Given the description of an element on the screen output the (x, y) to click on. 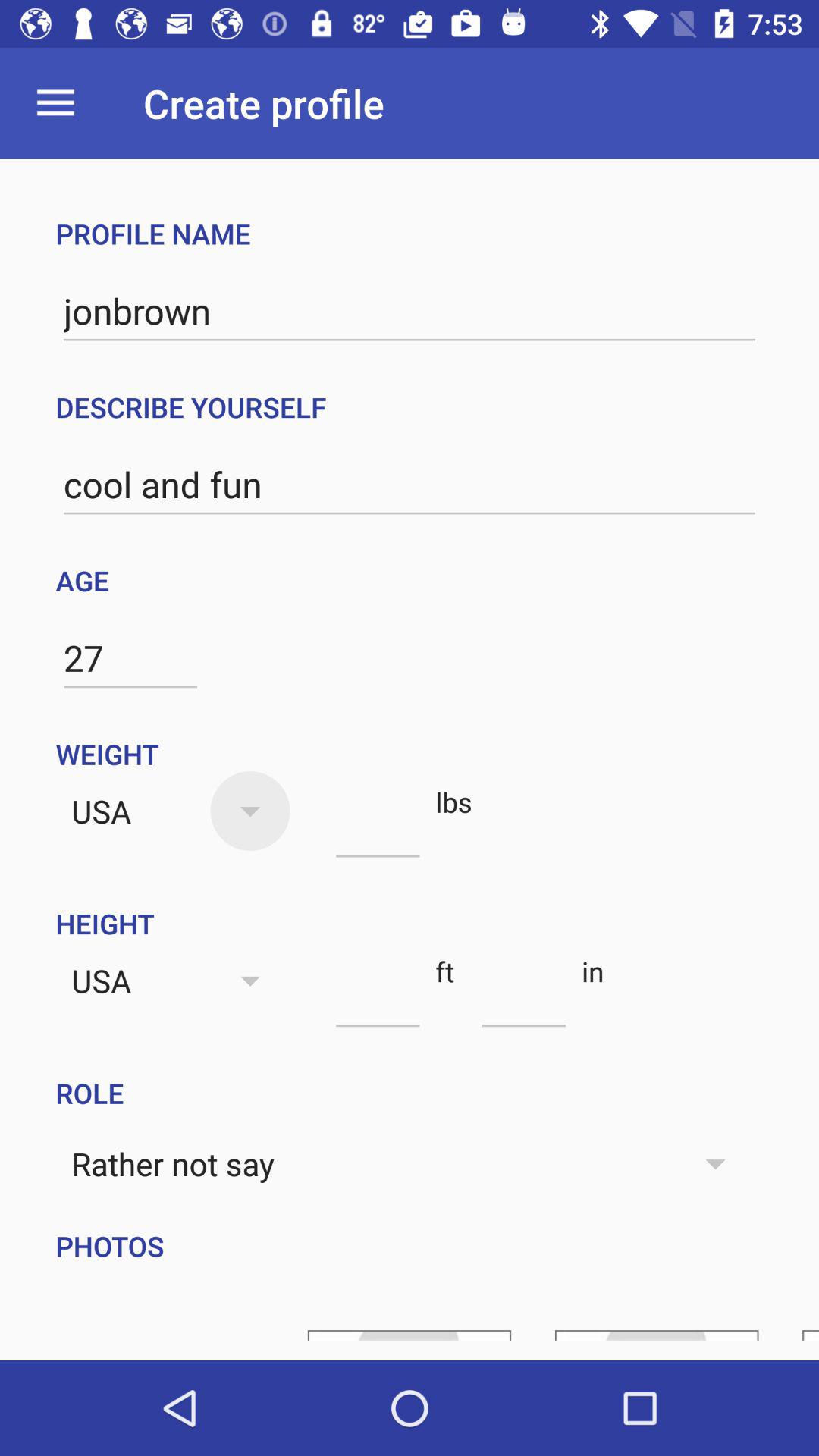
enter feet text (377, 999)
